Given the description of an element on the screen output the (x, y) to click on. 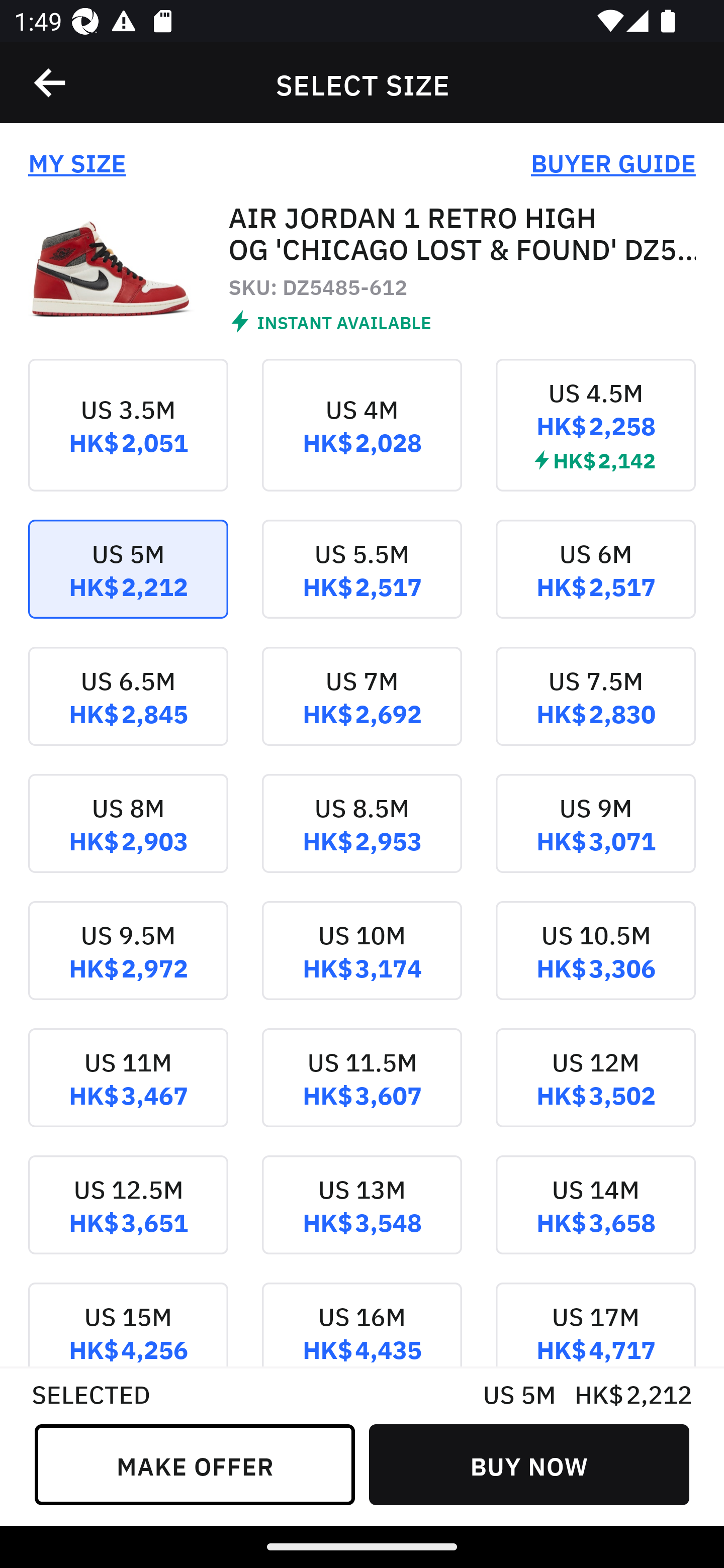
 (50, 83)
US 3.5M HK$ 2,051 (128, 439)
US 4M HK$ 2,028 (361, 439)
US 4.5M HK$ 2,258  HK$ 2,142 (595, 439)
US 5M HK$ 2,212 (128, 582)
US 5.5M HK$ 2,517 (361, 582)
US 6M HK$ 2,517 (595, 582)
US 6.5M HK$ 2,845 (128, 710)
US 7M HK$ 2,692 (361, 710)
US 7.5M HK$ 2,830 (595, 710)
US 8M HK$ 2,903 (128, 837)
US 8.5M HK$ 2,953 (361, 837)
US 9M HK$ 3,071 (595, 837)
US 9.5M HK$ 2,972 (128, 964)
US 10M HK$ 3,174 (361, 964)
US 10.5M HK$ 3,306 (595, 964)
US 11M HK$ 3,467 (128, 1091)
US 11.5M HK$ 3,607 (361, 1091)
US 12M HK$ 3,502 (595, 1091)
US 12.5M HK$ 3,651 (128, 1218)
US 13M HK$ 3,548 (361, 1218)
US 14M HK$ 3,658 (595, 1218)
US 15M HK$ 4,256 (128, 1323)
US 16M HK$ 4,435 (361, 1323)
US 17M HK$ 4,717 (595, 1323)
MAKE OFFER (194, 1464)
BUY NOW (529, 1464)
